Given the description of an element on the screen output the (x, y) to click on. 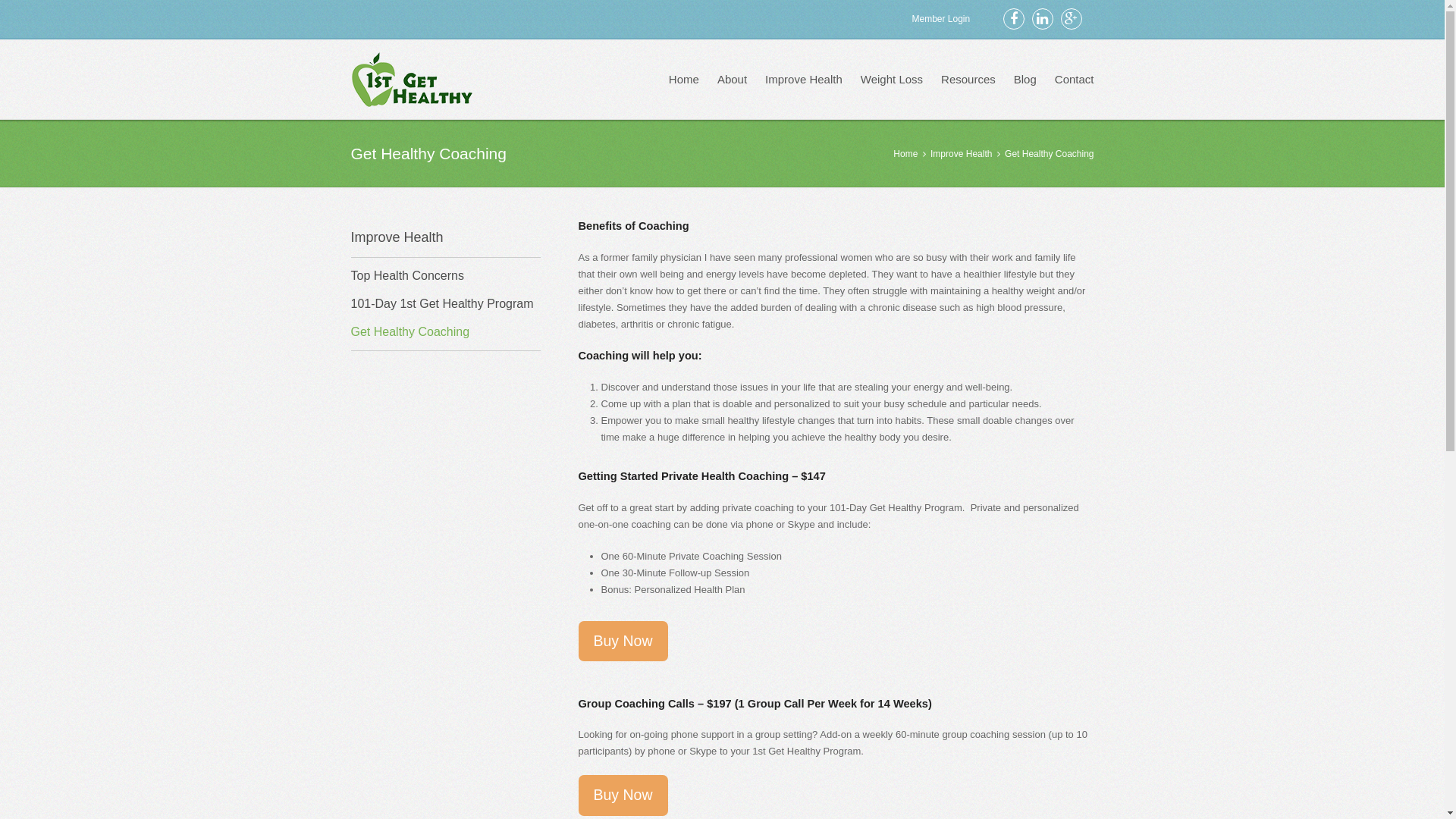
Home Element type: text (683, 79)
Top Health Concerns Element type: text (406, 275)
linkedin Element type: hover (1041, 18)
Improve Health Element type: text (960, 153)
Home Element type: text (906, 153)
Blog Element type: text (1024, 79)
google-plus Element type: hover (1070, 18)
Contact Element type: text (1074, 79)
1st Get Healthy Element type: hover (411, 78)
Member Login Element type: text (940, 18)
Get Healthy Coaching Element type: text (409, 331)
facebook Element type: hover (1012, 18)
Buy Now Element type: text (622, 641)
Improve Health Element type: text (396, 236)
About Element type: text (732, 79)
101-Day 1st Get Healthy Program Element type: text (441, 303)
Improve Health Element type: text (803, 79)
Buy Now Element type: text (622, 795)
Weight Loss Element type: text (891, 79)
Resources Element type: text (967, 79)
